Given the description of an element on the screen output the (x, y) to click on. 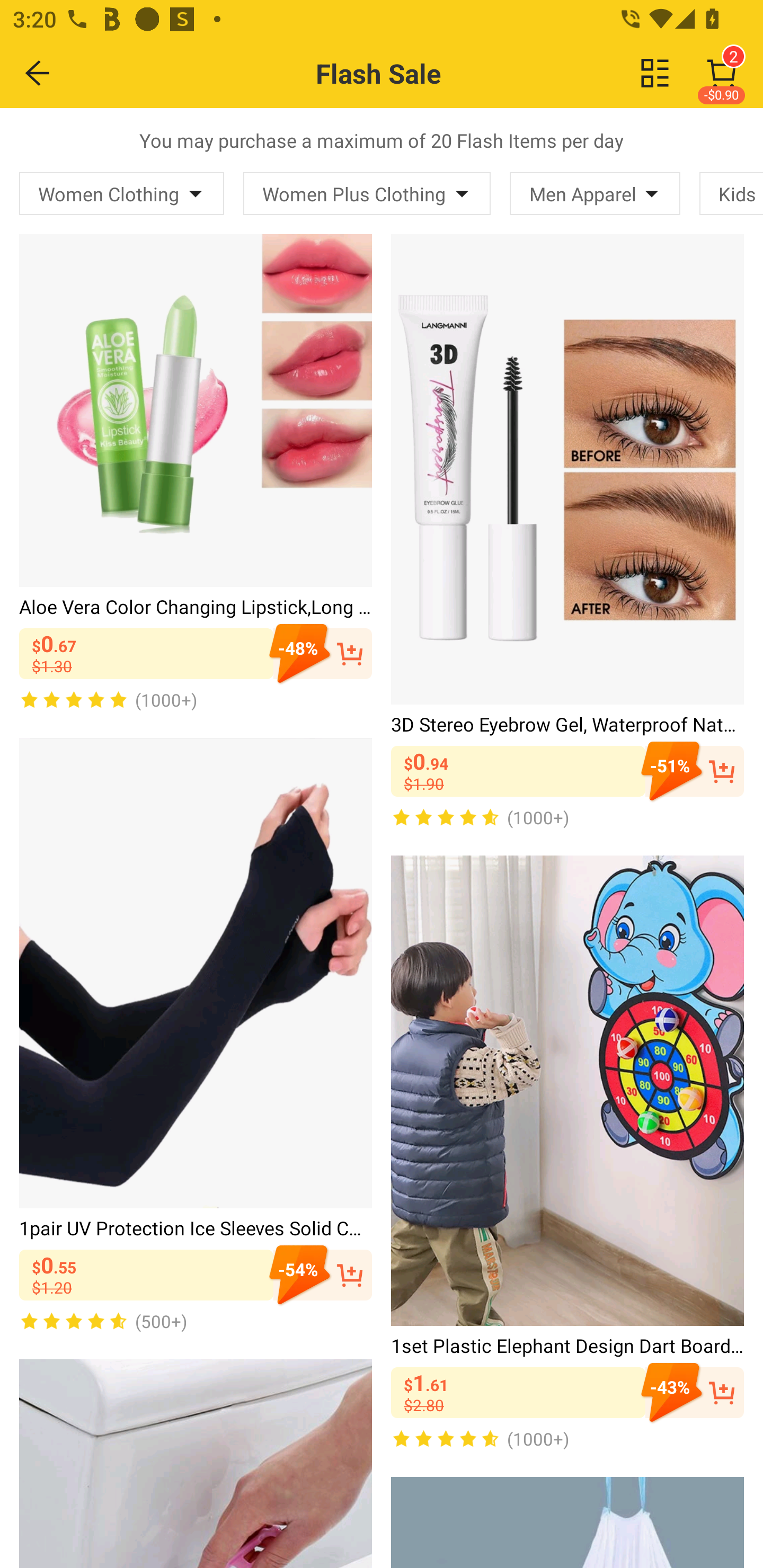
Flash Sale change view 2 -$0.90 (419, 72)
2 -$0.90 (721, 72)
change view (654, 72)
BACK (38, 72)
Women Clothing (121, 193)
Women Plus Clothing (366, 193)
Men Apparel (594, 193)
